Given the description of an element on the screen output the (x, y) to click on. 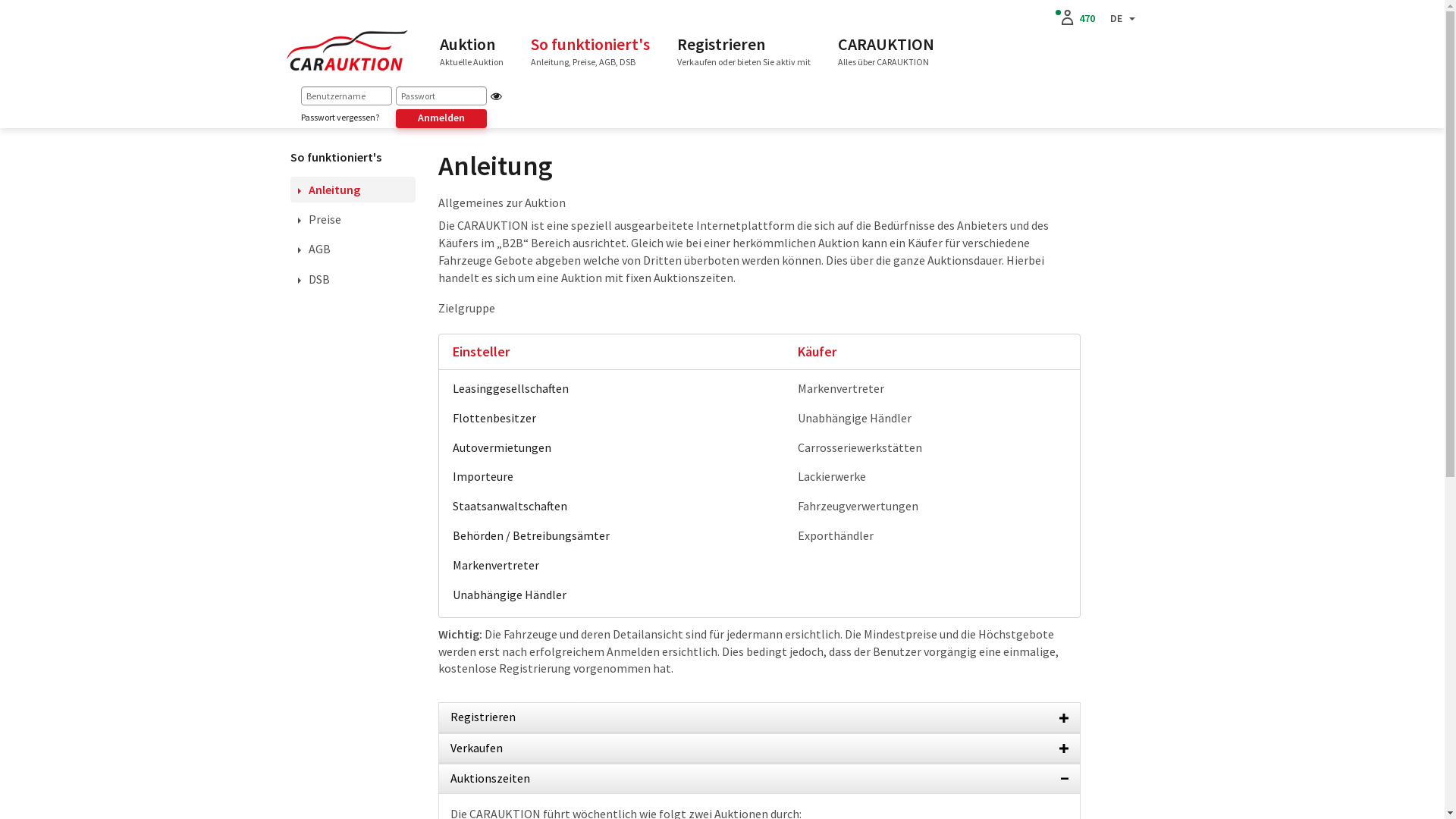
Preise Element type: text (318, 219)
So funktioniert's
Anleitung, Preise, AGB, DSB Element type: text (590, 50)
Auktion
Aktuelle Auktion Element type: text (471, 50)
Registrieren Element type: text (759, 717)
Auktionszeiten Element type: text (759, 778)
DSB Element type: text (312, 278)
Anleitung Element type: text (328, 189)
Passwort vergessen? Element type: text (339, 117)
AGB Element type: text (313, 248)
Anmelden Element type: text (440, 118)
Verkaufen Element type: text (759, 748)
Registrieren
Verkaufen oder bieten Sie aktiv mit Element type: text (742, 50)
